Given the description of an element on the screen output the (x, y) to click on. 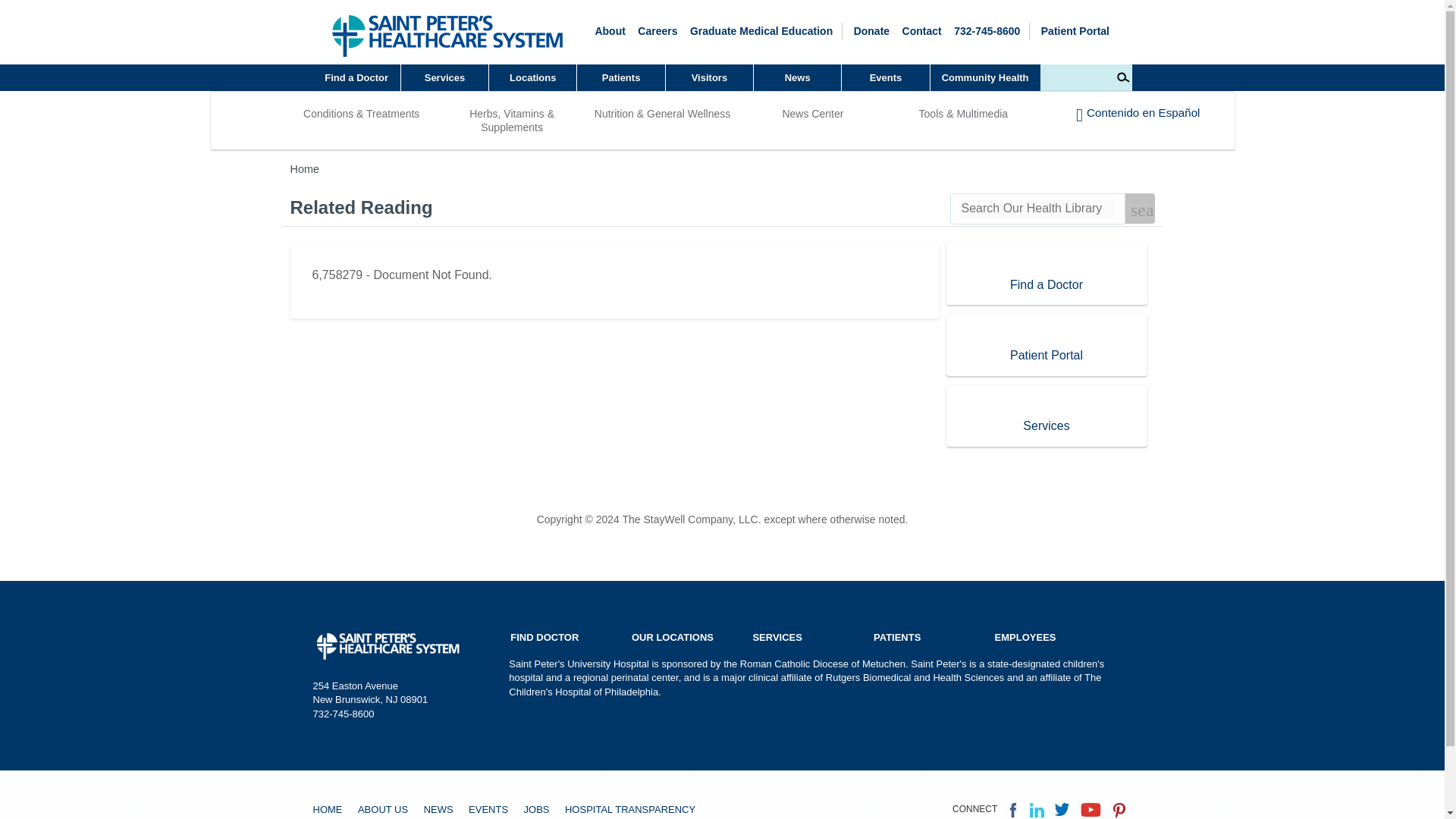
Contact (922, 30)
Graduate Medical Education (761, 30)
732-745-8600 (986, 30)
Services (445, 77)
Find a Doctor (445, 77)
Careers (761, 30)
Locations (355, 77)
Patient Portal (657, 30)
About (532, 77)
Donate (1075, 30)
Patient Portal (609, 30)
732-745-8600 (871, 30)
